Given the description of an element on the screen output the (x, y) to click on. 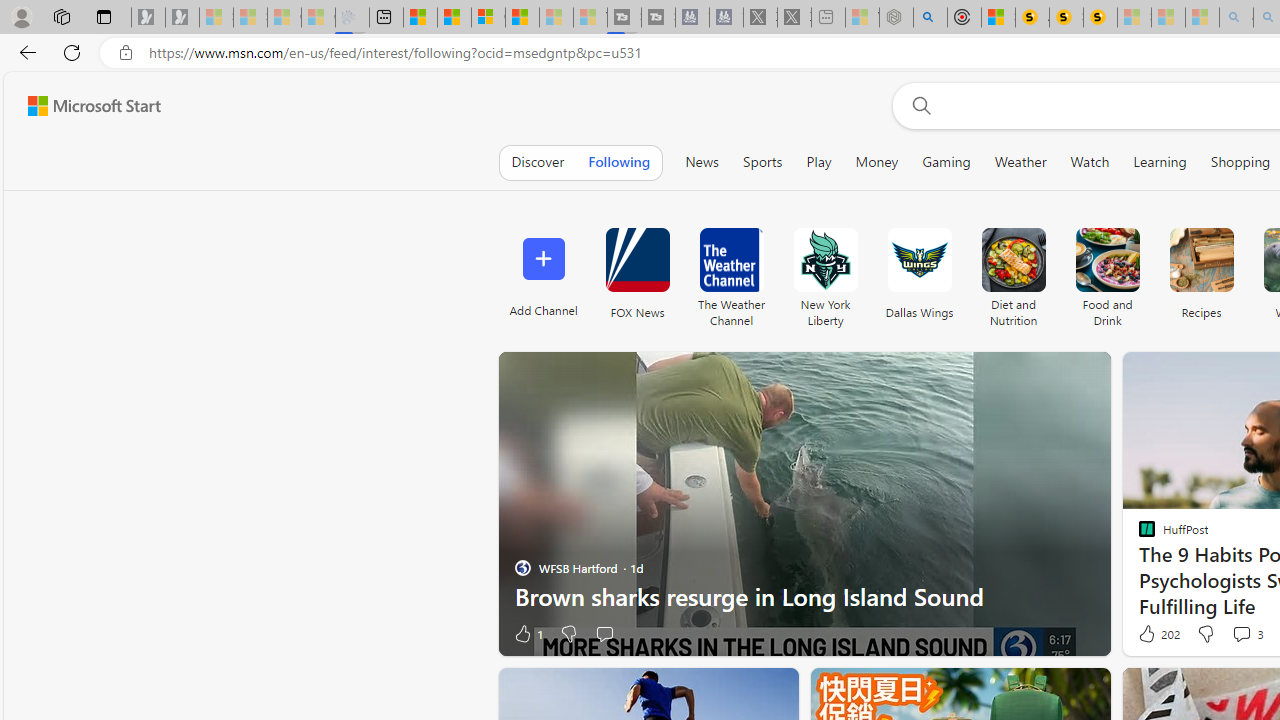
Newsletter Sign Up - Sleeping (182, 17)
Money (876, 161)
Michelle Starr, Senior Journalist at ScienceAlert (1100, 17)
FOX News (637, 272)
News (701, 162)
New York Liberty (825, 260)
Overview (488, 17)
Learning (1160, 161)
Food and Drink (1107, 260)
Recipes (1200, 260)
